Given the description of an element on the screen output the (x, y) to click on. 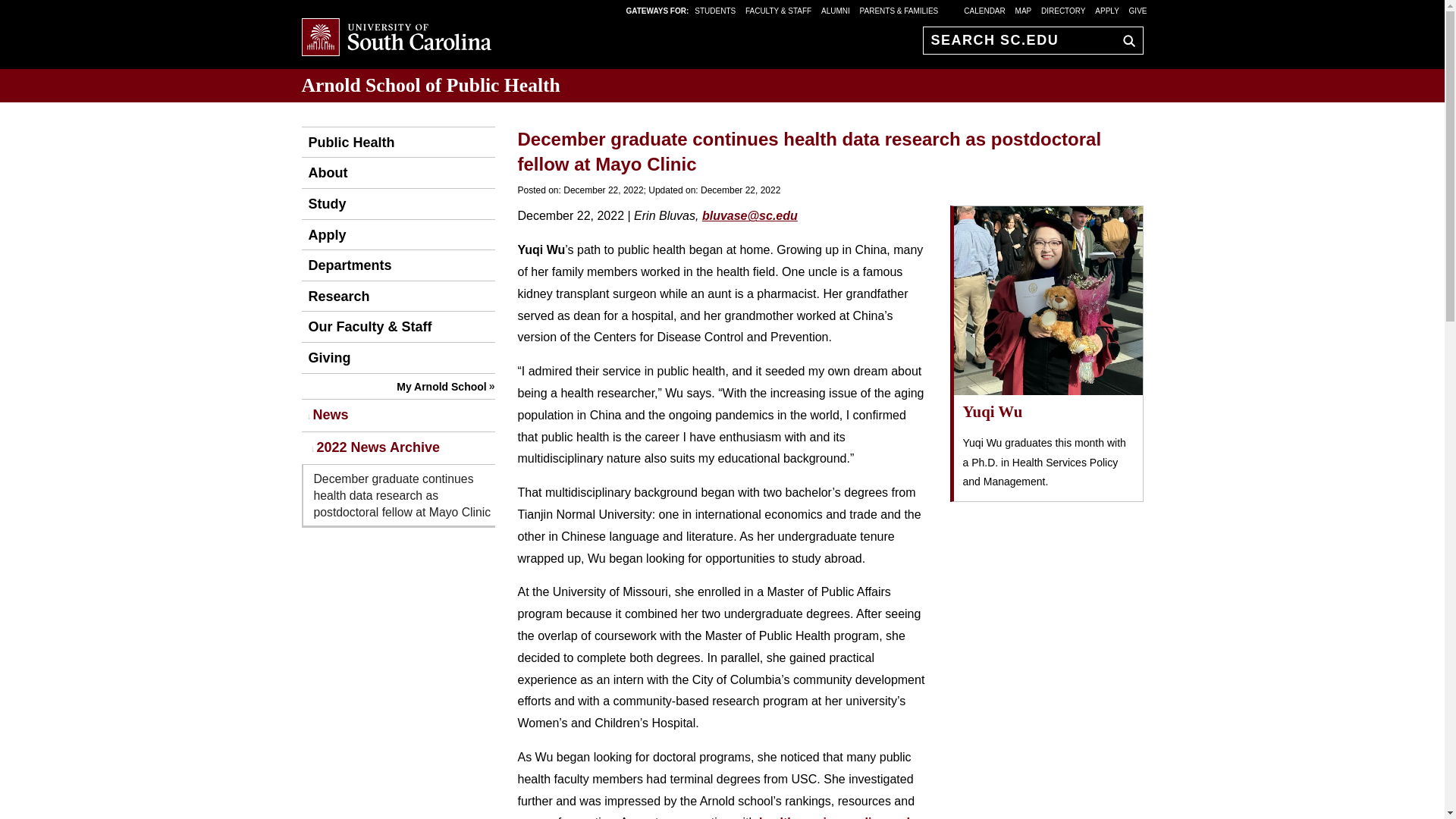
University of South Carolina Home (396, 38)
GO (1125, 40)
CALENDAR (983, 9)
MAP (1023, 9)
STUDENTS (716, 9)
ALUMNI (835, 9)
APPLY (1106, 9)
GIVE (1138, 9)
Public Health (347, 142)
GO (1125, 40)
